Given the description of an element on the screen output the (x, y) to click on. 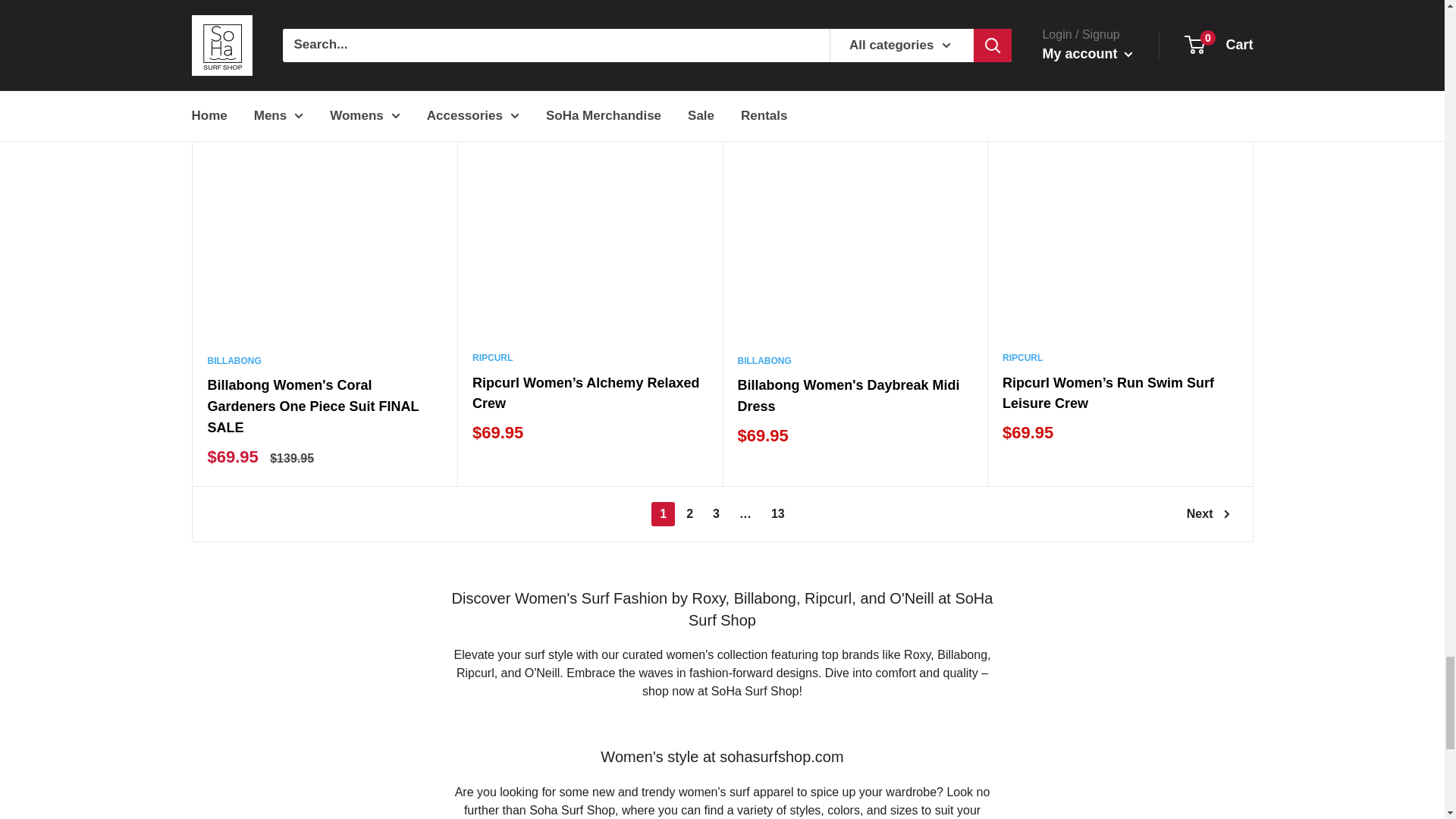
Navigate to page 2 (689, 514)
Navigate to page 13 (777, 514)
Next (1208, 514)
Navigate to page 3 (716, 514)
